Given the description of an element on the screen output the (x, y) to click on. 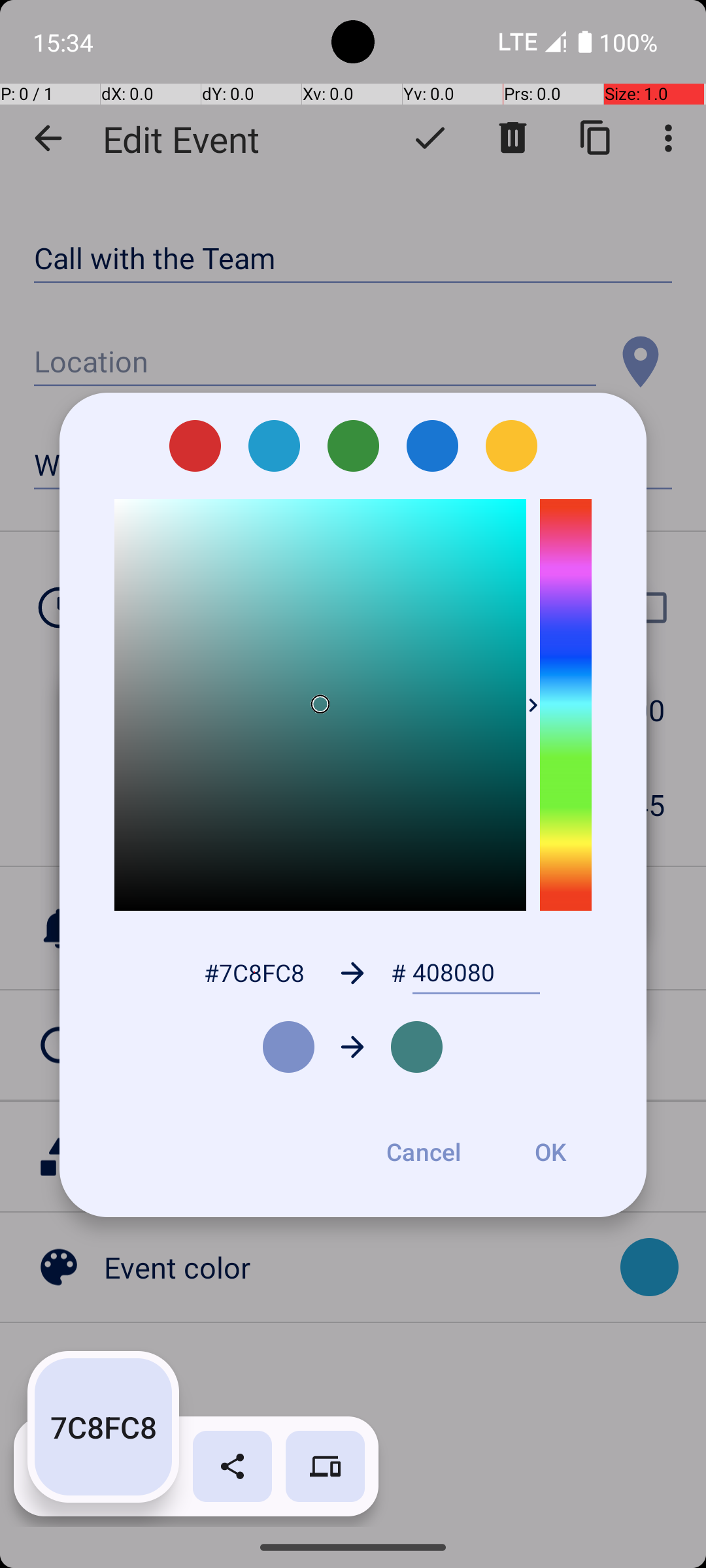
#7C8FC8 Element type: android.widget.TextView (254, 972)
408080 Element type: android.widget.EditText (475, 972)
7C8FC8 Element type: android.widget.TextView (102, 1426)
Send to nearby device Element type: android.widget.FrameLayout (324, 1466)
